Given the description of an element on the screen output the (x, y) to click on. 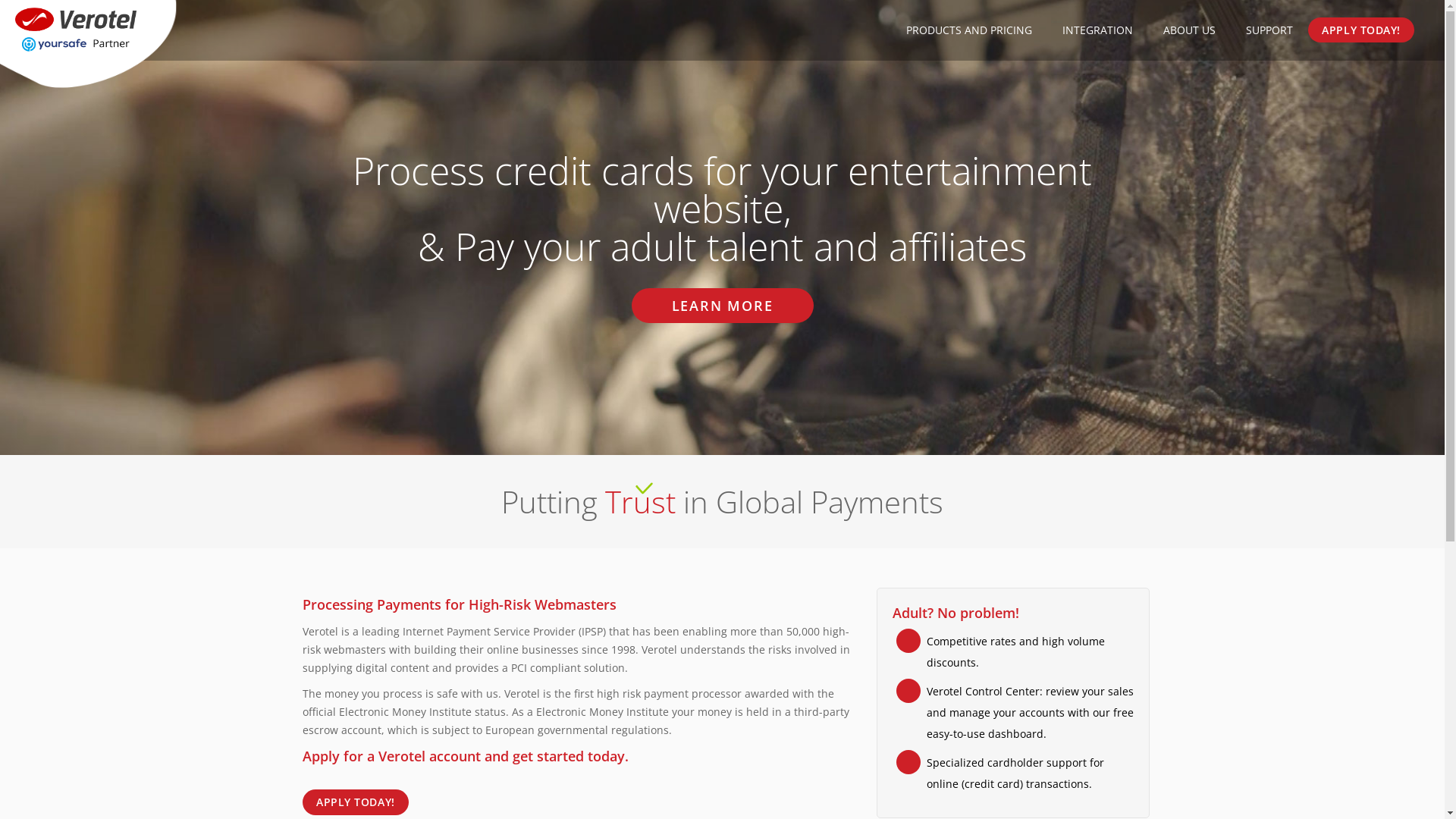
APPLY TODAY! Element type: text (355, 801)
ABOUT US Element type: text (1189, 29)
Homepage - Putting Trust in Global Payments Element type: hover (75, 30)
SUPPORT Element type: text (1269, 29)
PRODUCTS AND PRICING Element type: text (969, 29)
APPLY TODAY! Element type: text (1361, 29)
LEARN MORE Element type: text (721, 305)
INTEGRATION Element type: text (1097, 29)
